Given the description of an element on the screen output the (x, y) to click on. 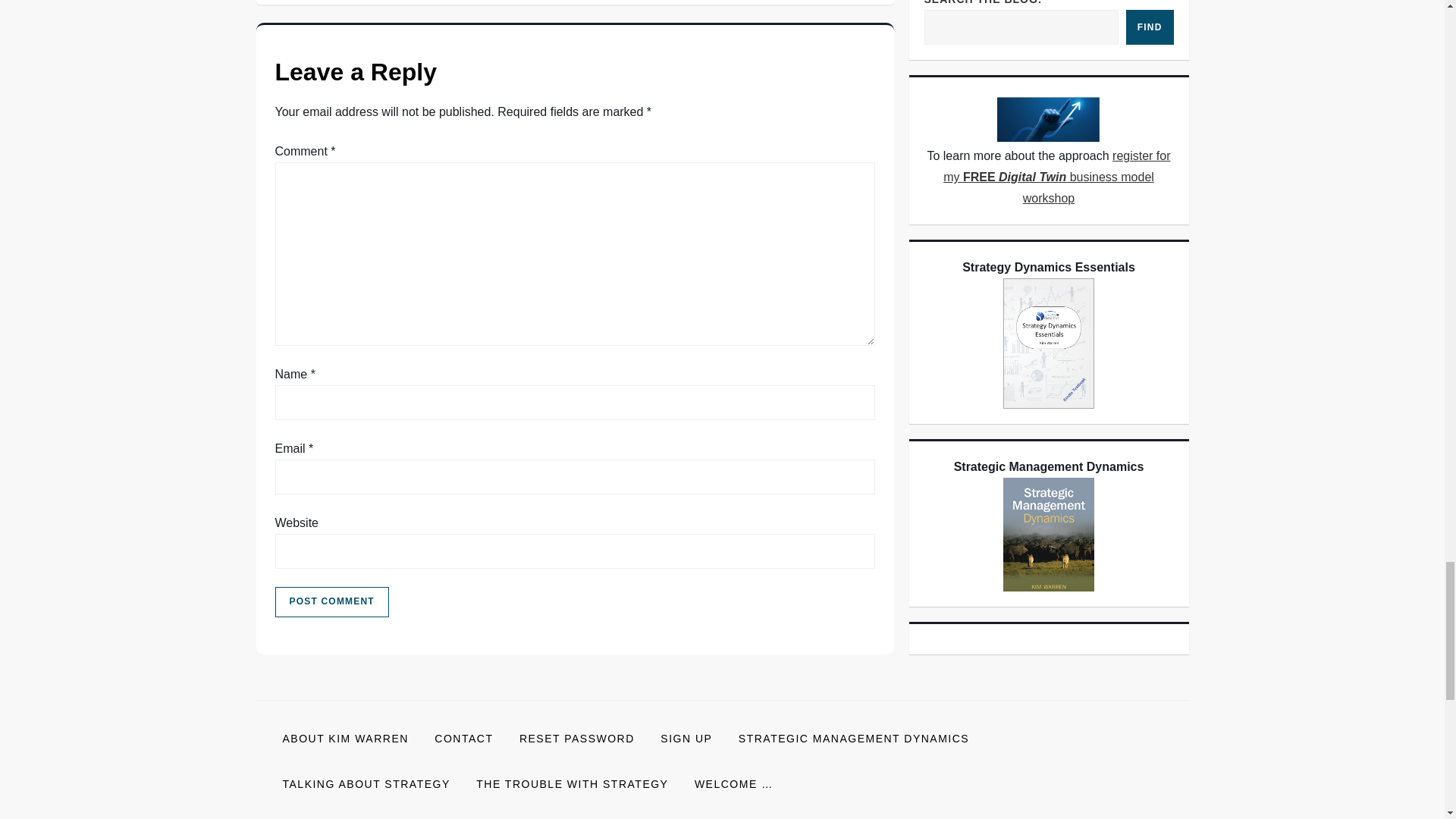
RESET PASSWORD (577, 738)
TALKING ABOUT STRATEGY (365, 783)
STRATEGIC MANAGEMENT DYNAMICS (852, 738)
ABOUT KIM WARREN (345, 738)
Post Comment (331, 602)
Post Comment (331, 602)
CONTACT (463, 738)
SIGN UP (686, 738)
THE TROUBLE WITH STRATEGY (571, 783)
